Given the description of an element on the screen output the (x, y) to click on. 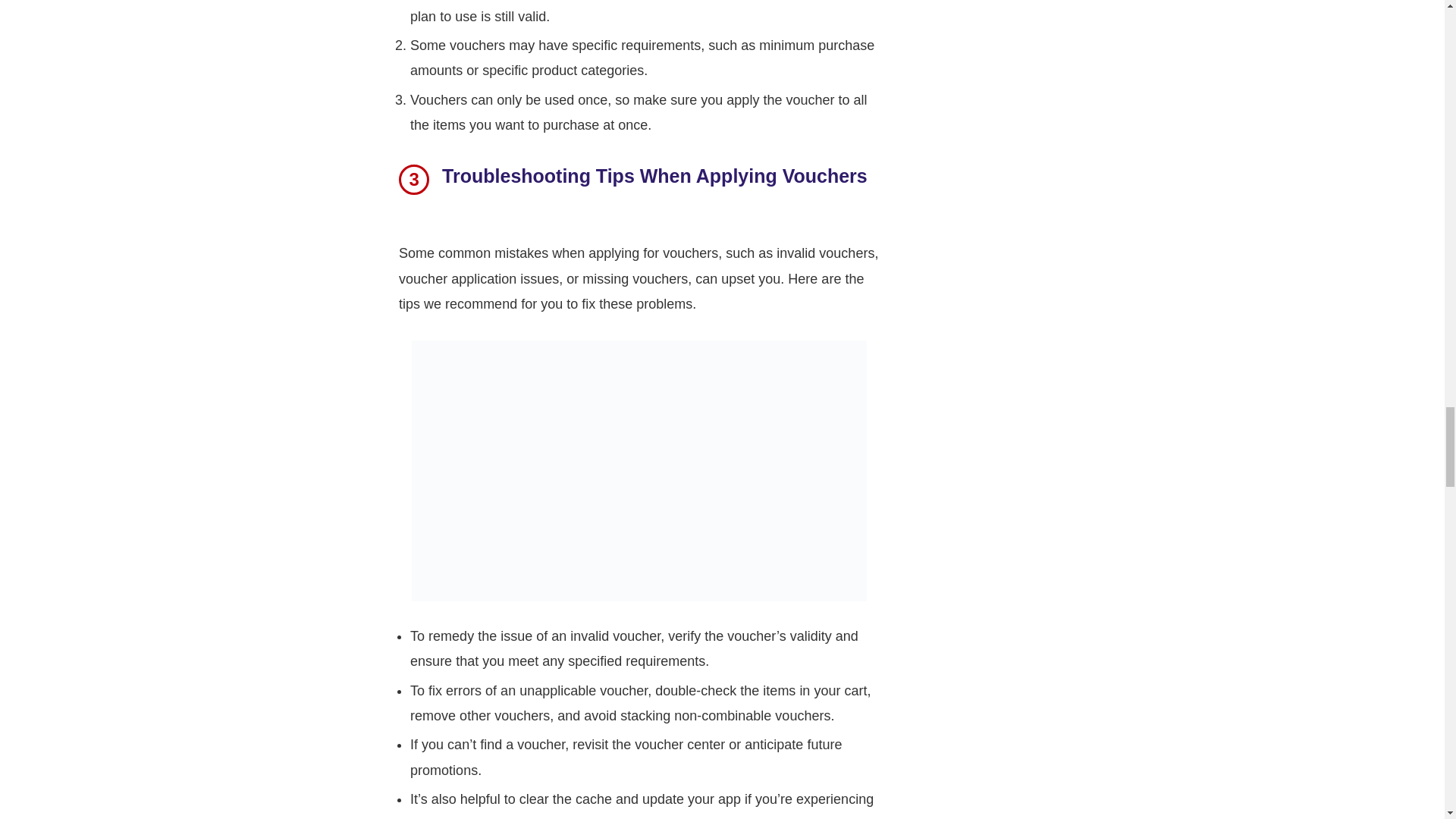
Unlock Savings: How to Use a Voucher in Shopee Effectively 3 (638, 470)
